Given the description of an element on the screen output the (x, y) to click on. 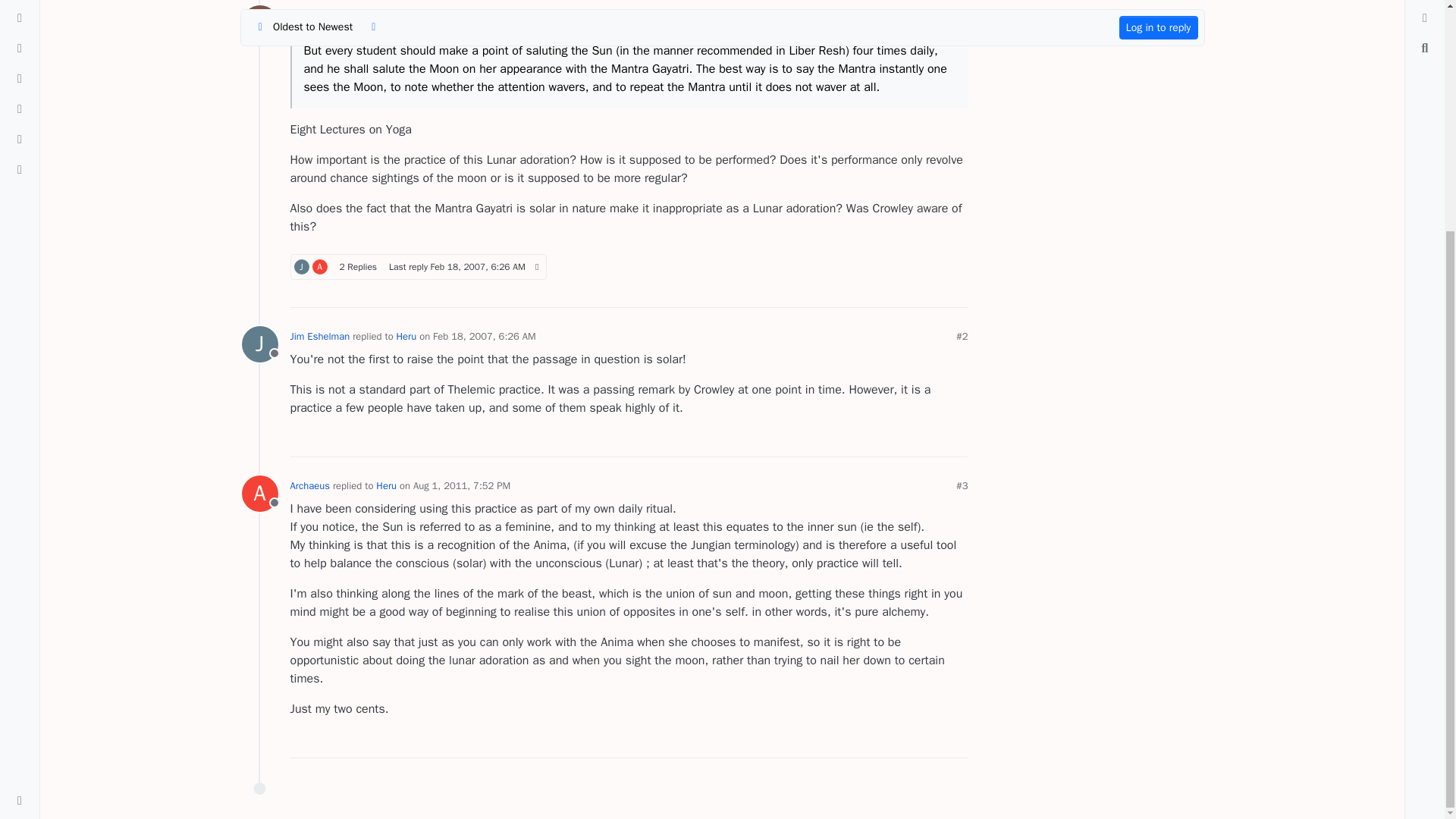
Heru (259, 22)
Feb 15, 2007, 5:08 AM (417, 266)
Heru (405, 15)
Archaeus (299, 15)
Feb 18, 2007, 6:26 AM (259, 22)
Jim Eshelman (320, 266)
Feb 15, 2007, 5:08 AM (477, 266)
